Given the description of an element on the screen output the (x, y) to click on. 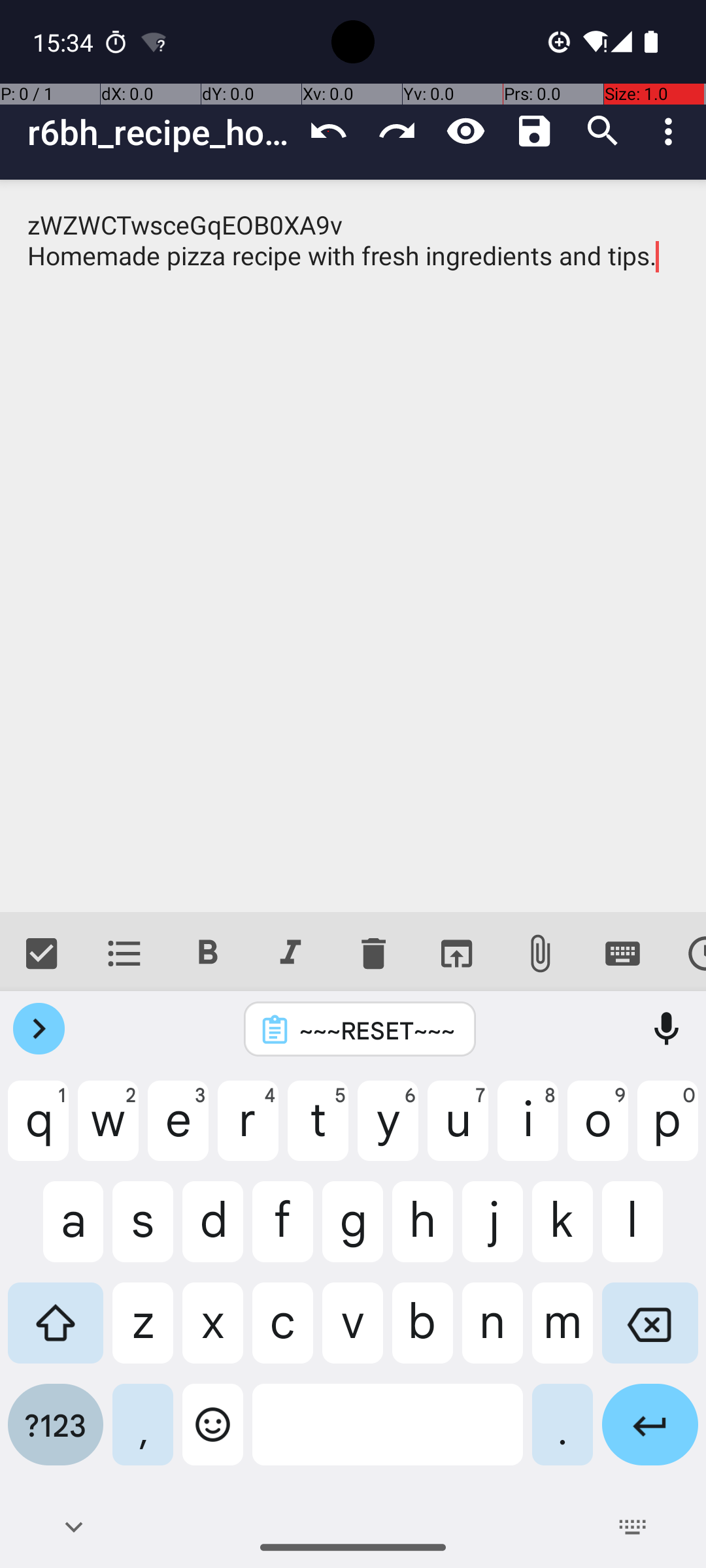
r6bh_recipe_homemade_pizza Element type: android.widget.TextView (160, 131)
zWZWCTwsceGqEOB0XA9v
Homemade pizza recipe with fresh ingredients and tips.
 Element type: android.widget.EditText (353, 545)
